Given the description of an element on the screen output the (x, y) to click on. 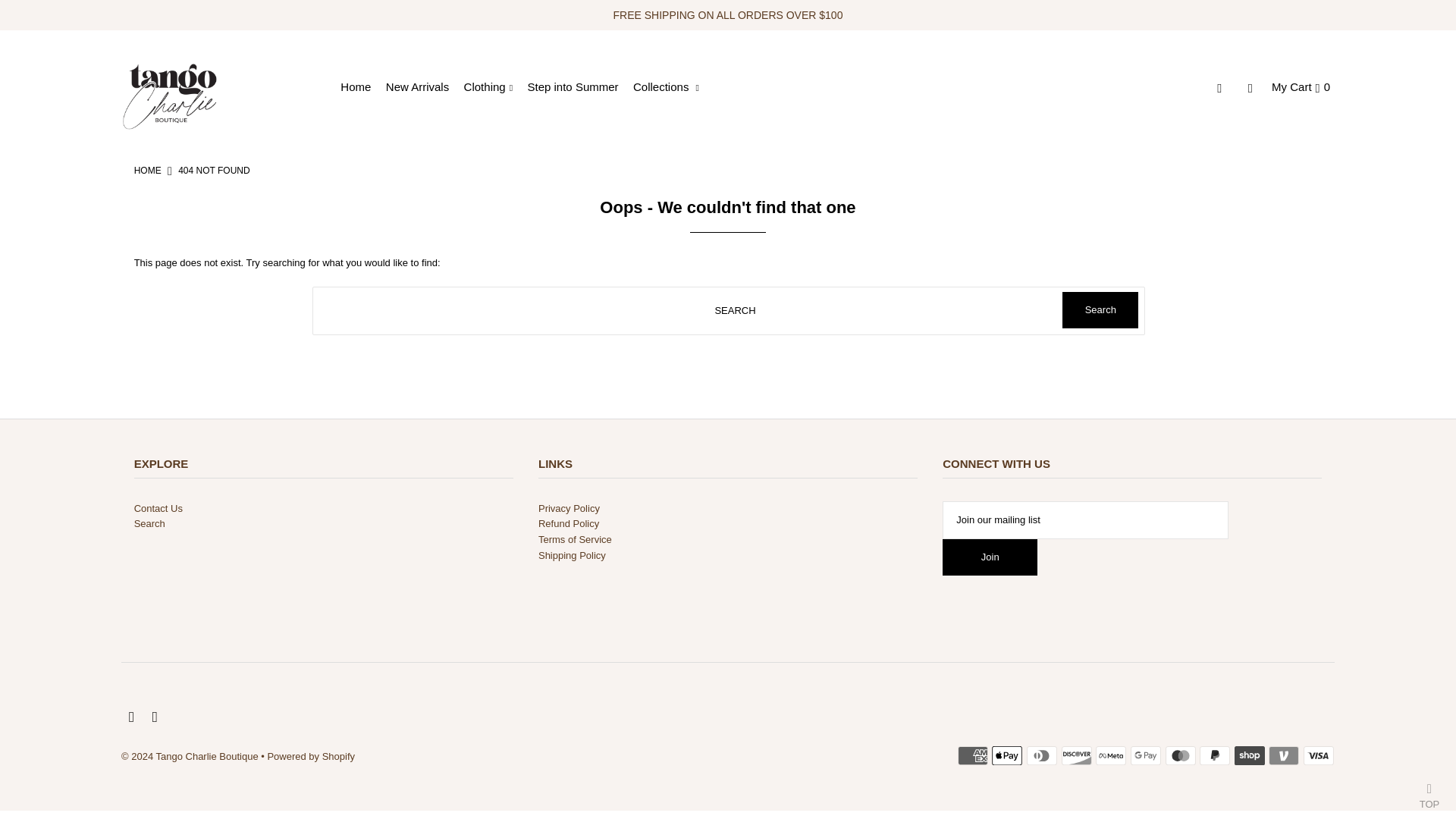
Search (1100, 309)
Clothing (494, 86)
TOP (1429, 792)
Home (360, 86)
American Express (973, 755)
Meta Pay (1110, 755)
Google Pay (1145, 755)
Apple Pay (1006, 755)
Home (147, 170)
Venmo (1283, 755)
PayPal (1214, 755)
Mastercard (1179, 755)
Visa (1318, 755)
Collections (671, 86)
Shop Pay (1249, 755)
